Given the description of an element on the screen output the (x, y) to click on. 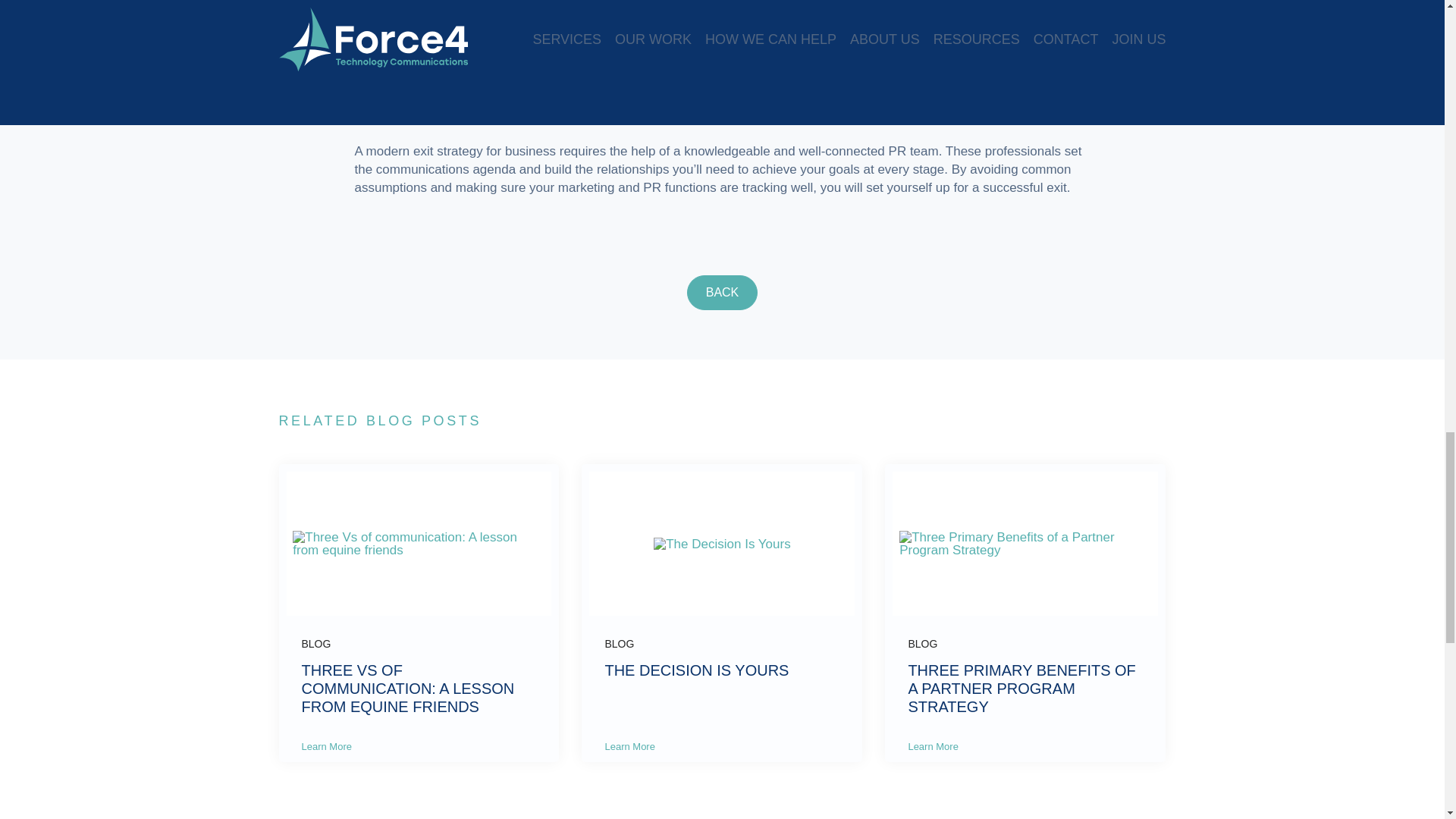
BACK (722, 292)
